Given the description of an element on the screen output the (x, y) to click on. 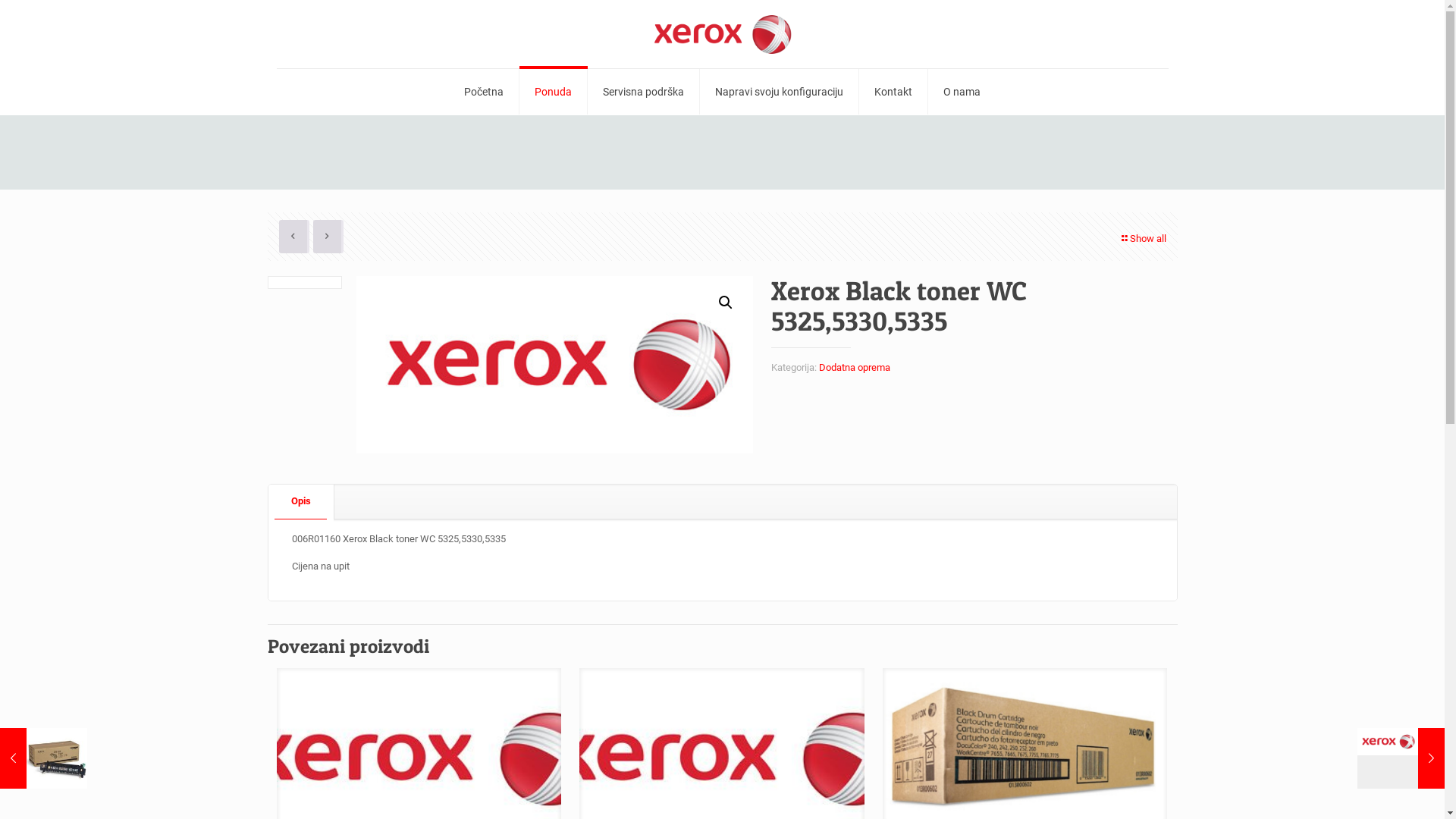
slika-1944526-5aa155f8e06c7-velika Element type: hover (554, 364)
Opis Element type: text (300, 501)
Dodatna oprema Element type: text (854, 367)
Napravi svoju konfiguraciju Element type: text (779, 91)
Xerox Element type: hover (722, 34)
Show all Element type: text (1142, 238)
Ponuda Element type: text (553, 91)
Kontakt Element type: text (893, 91)
O nama Element type: text (961, 91)
